Given the description of an element on the screen output the (x, y) to click on. 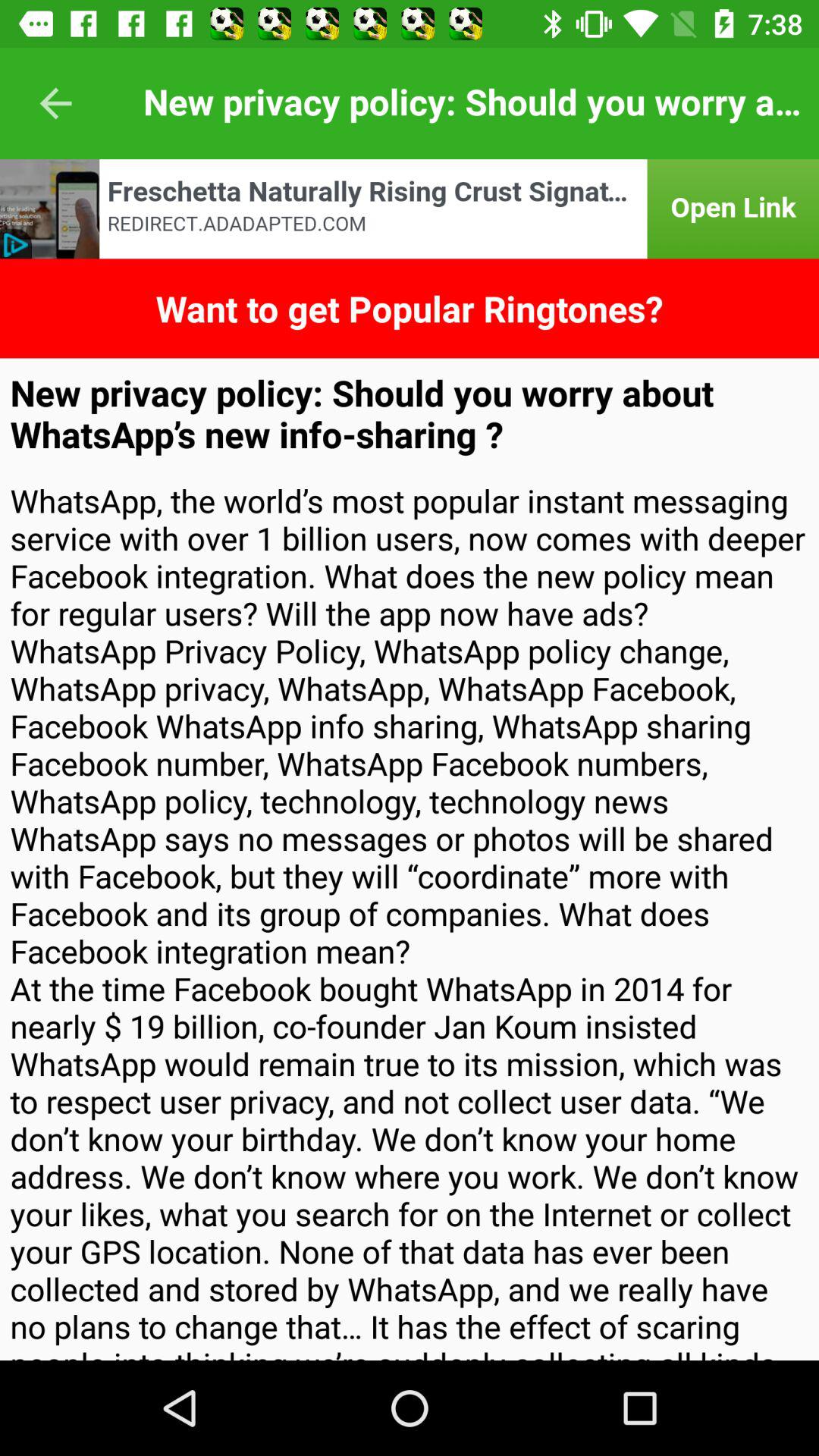
turn off item above the want to get item (409, 208)
